Given the description of an element on the screen output the (x, y) to click on. 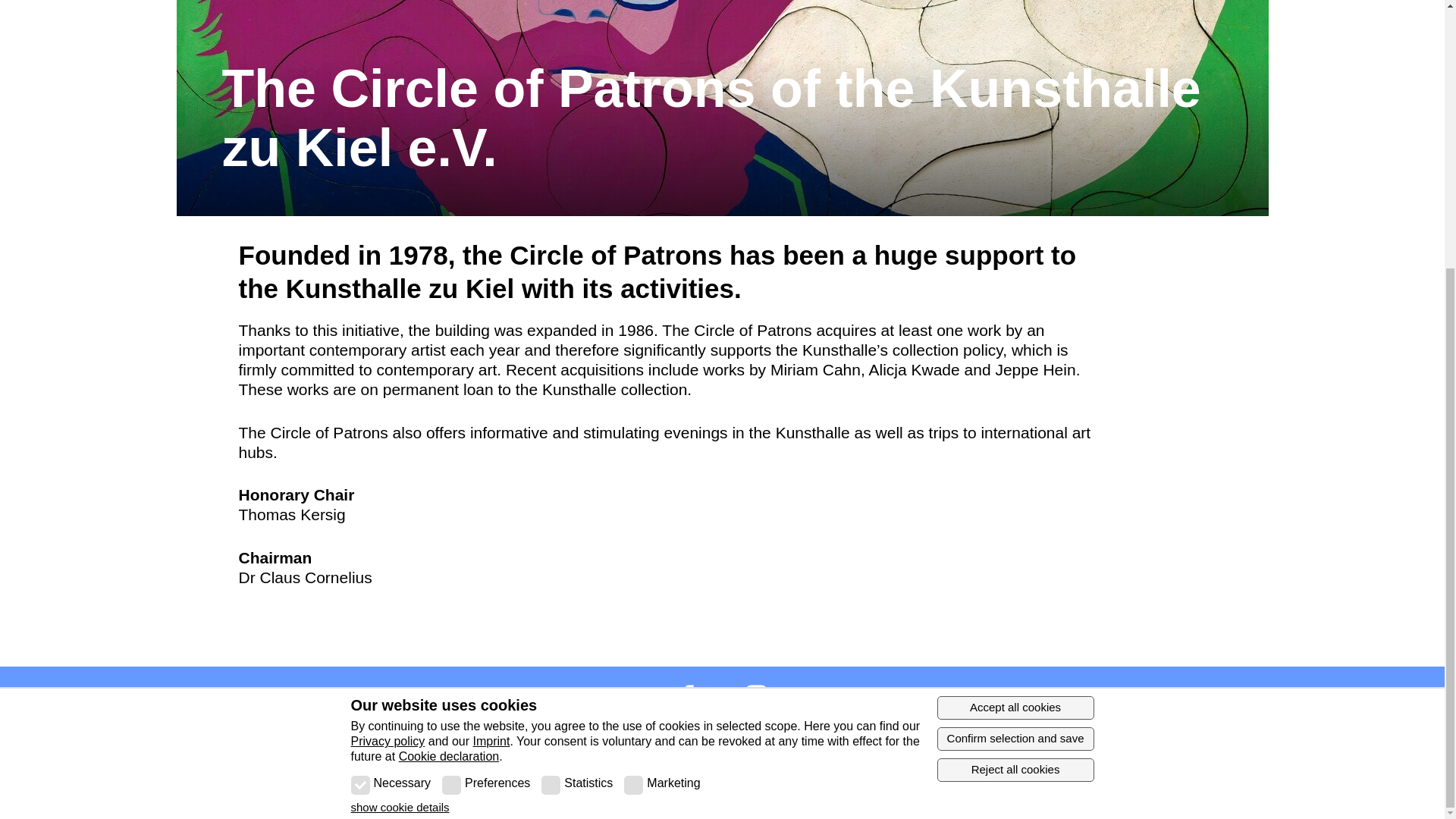
The Circle of Patrons of the Kunsthalle zu Kiel e.V.  (722, 121)
The Circle of Patrons of the Kunsthalle zu Kiel e.V. (722, 121)
SHOP (355, 776)
CONTACT (226, 776)
